Given the description of an element on the screen output the (x, y) to click on. 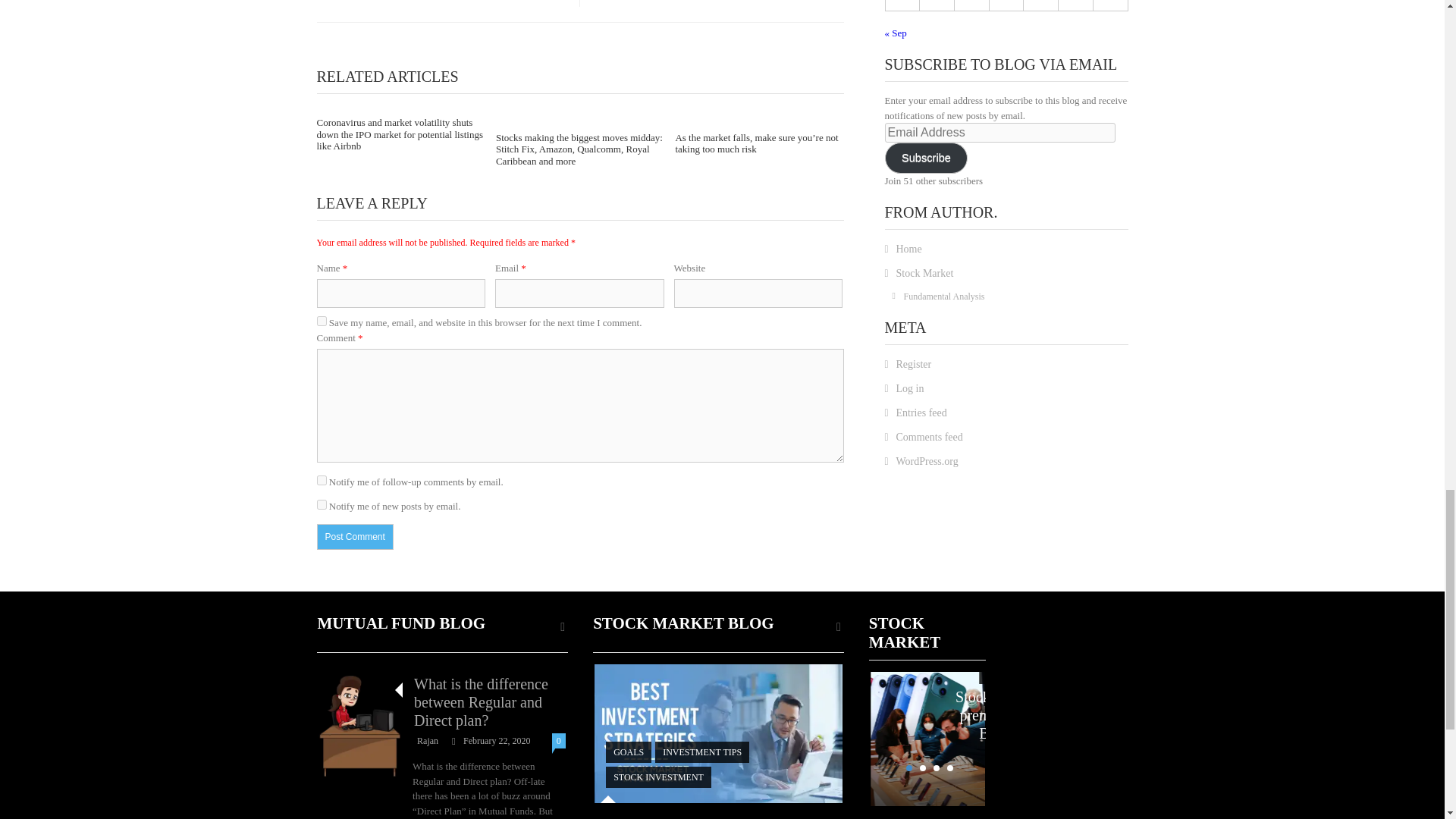
subscribe (321, 504)
subscribe (321, 480)
yes (321, 320)
Post Comment (355, 536)
